Given the description of an element on the screen output the (x, y) to click on. 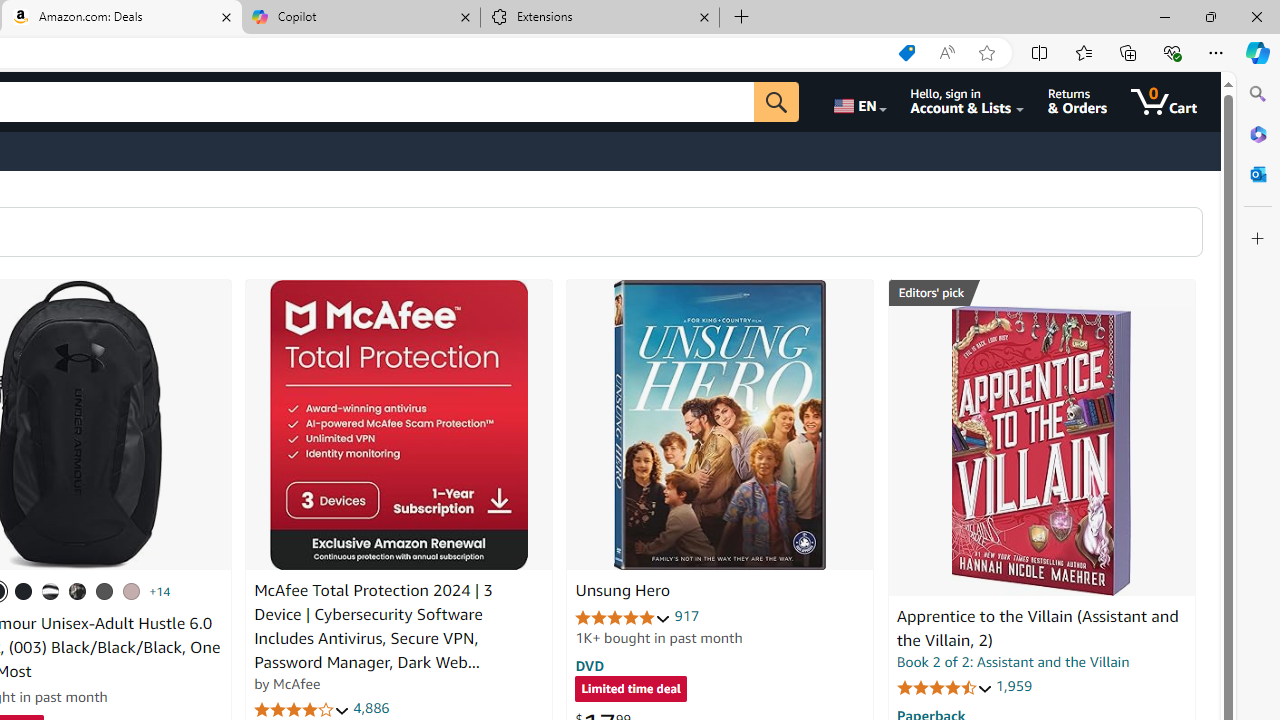
1,959 (1013, 686)
Apprentice to the Villain (Assistant and the Villain, 2) (1041, 451)
Shopping in Microsoft Edge (906, 53)
Choose a language for shopping. (858, 101)
4.6 out of 5 stars (944, 686)
Editors' pick Best Science Fiction & Fantasy (1041, 293)
